Given the description of an element on the screen output the (x, y) to click on. 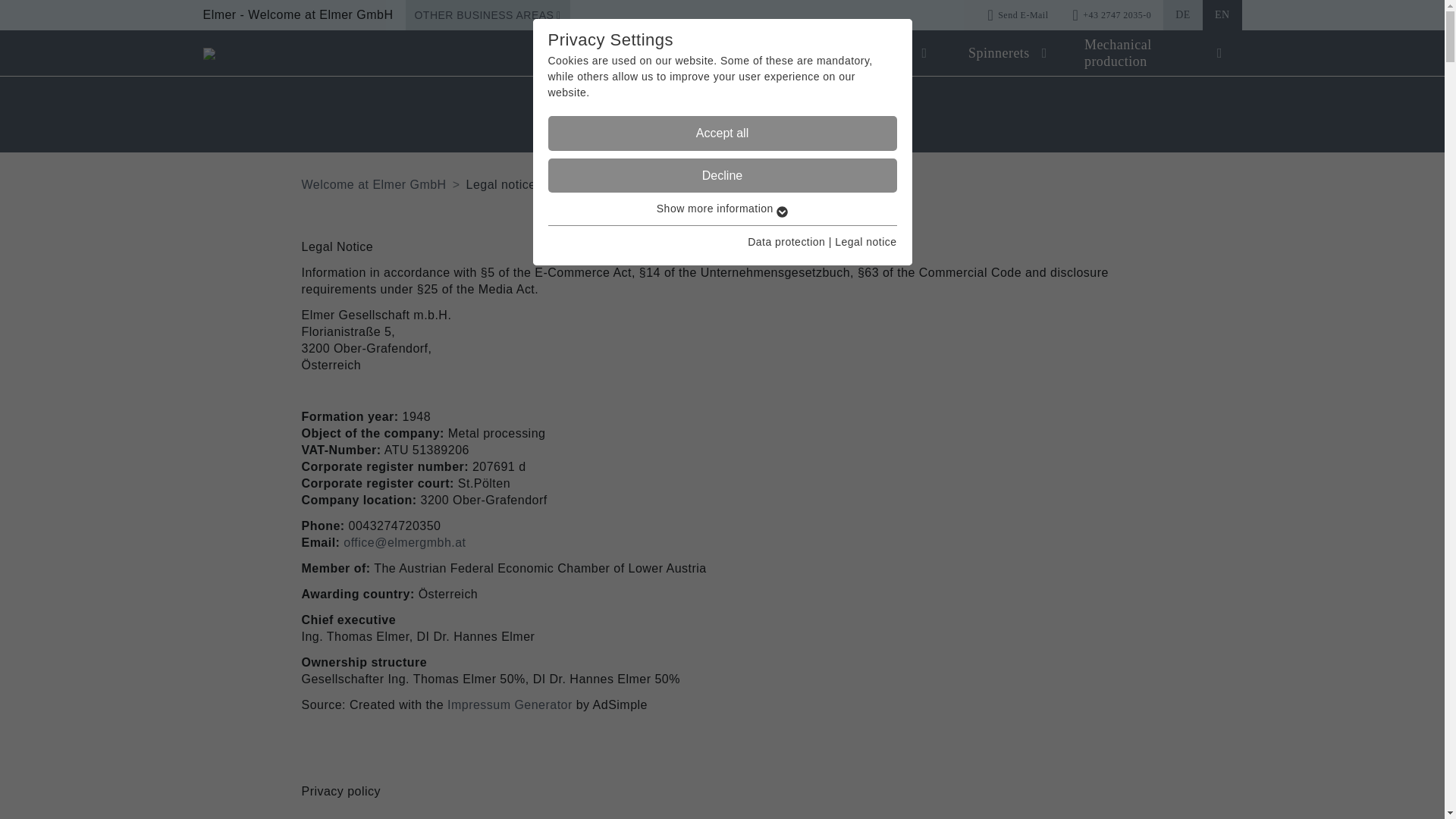
Spray nozzles (871, 53)
Mechanical production (1144, 53)
Send E-Mail (1017, 15)
Page is in english (1221, 15)
EN (1221, 15)
DE (1182, 15)
Spinnerets (998, 52)
Impressum Generator by AdSimple (509, 704)
Spray nozzles (871, 53)
Spinnerets (998, 52)
OTHER BUSINESS AREAS (486, 15)
dropdown-toggle (1226, 52)
